Given the description of an element on the screen output the (x, y) to click on. 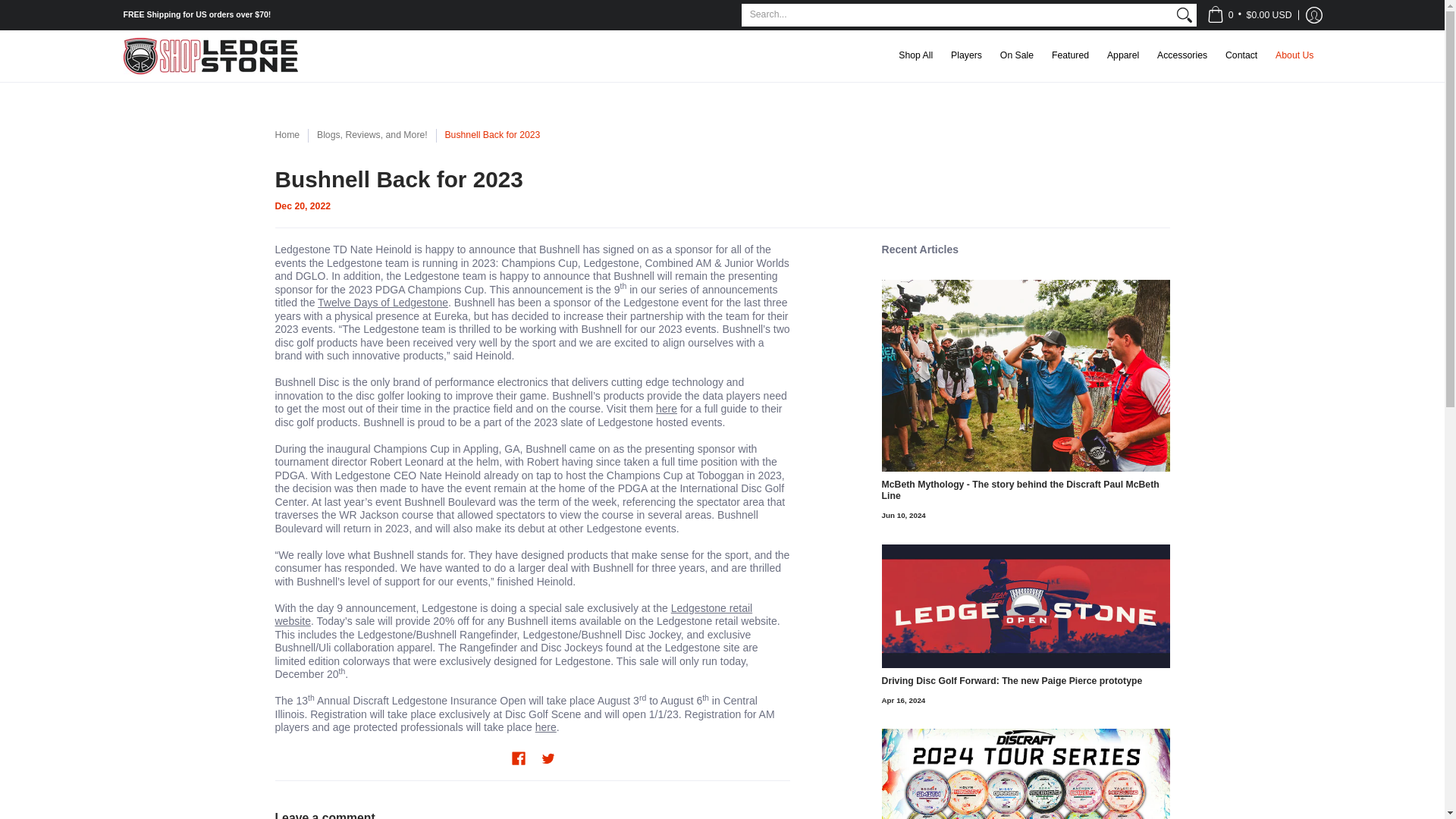
Players (966, 55)
On Sale (1016, 55)
Ledgestone (209, 55)
Apparel (1123, 55)
Log in (1312, 15)
On Sale (1016, 55)
Contact (1241, 55)
Shop All (915, 55)
Featured (1069, 55)
Blogs, Reviews, and More! (372, 134)
Shop All (915, 55)
here (666, 408)
Players (966, 55)
About Us (1294, 55)
Home (287, 134)
